Given the description of an element on the screen output the (x, y) to click on. 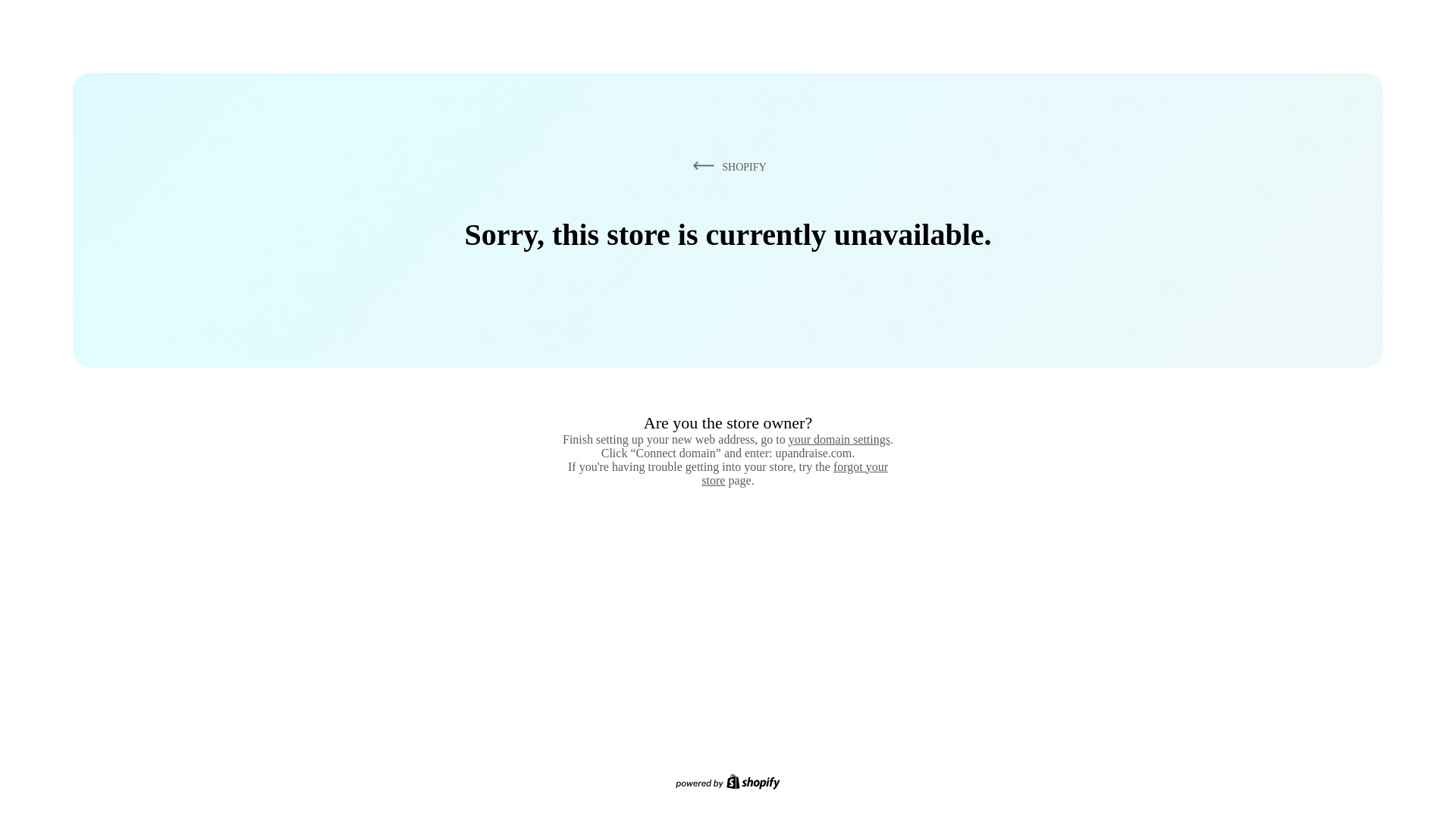
your domain settings (839, 439)
forgot your store (794, 473)
SHOPIFY (726, 166)
